Given the description of an element on the screen output the (x, y) to click on. 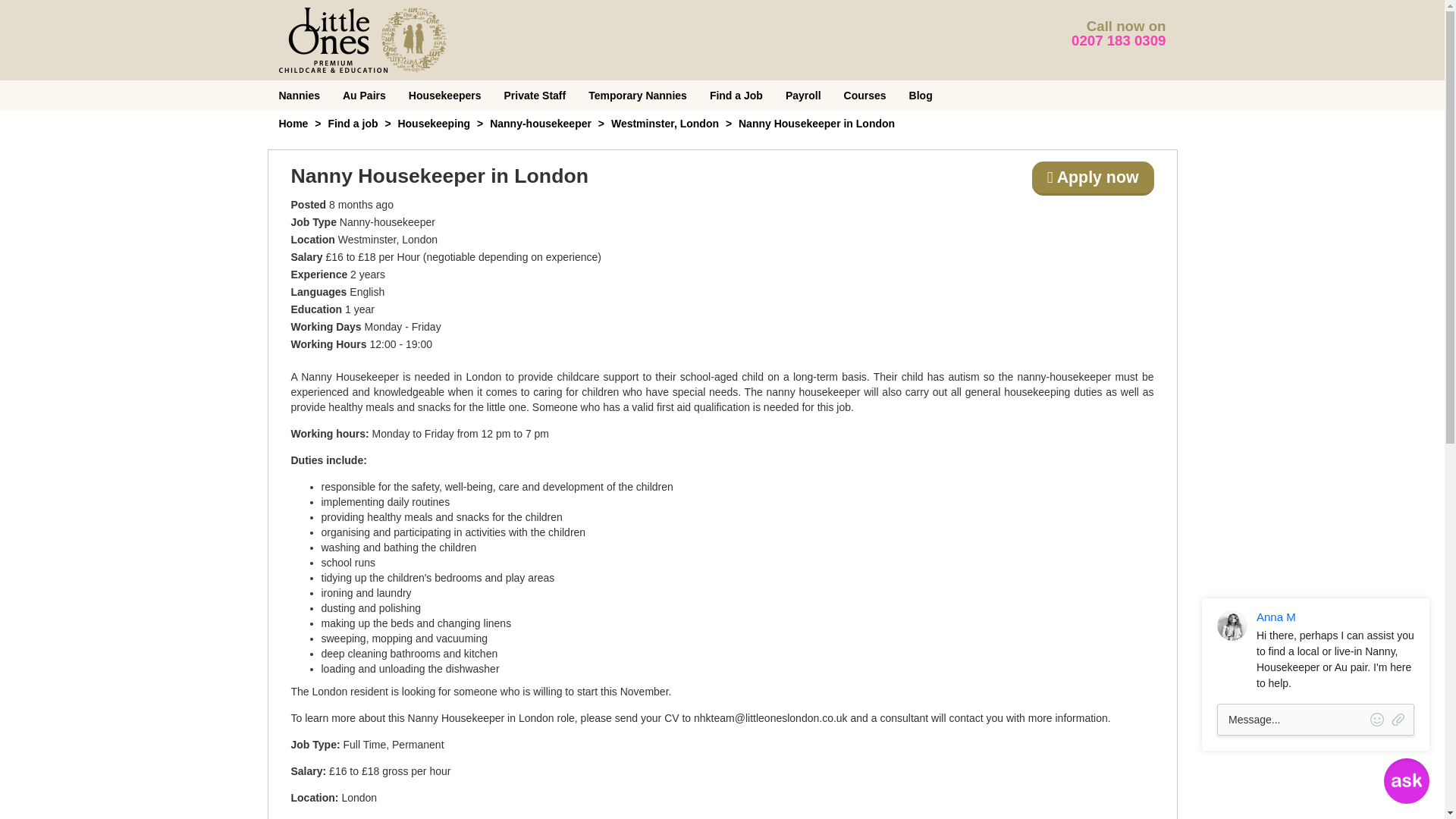
0207 183 0309 (1118, 40)
Housekeepers (445, 95)
Nannies (298, 95)
Au Pairs (364, 95)
